Given the description of an element on the screen output the (x, y) to click on. 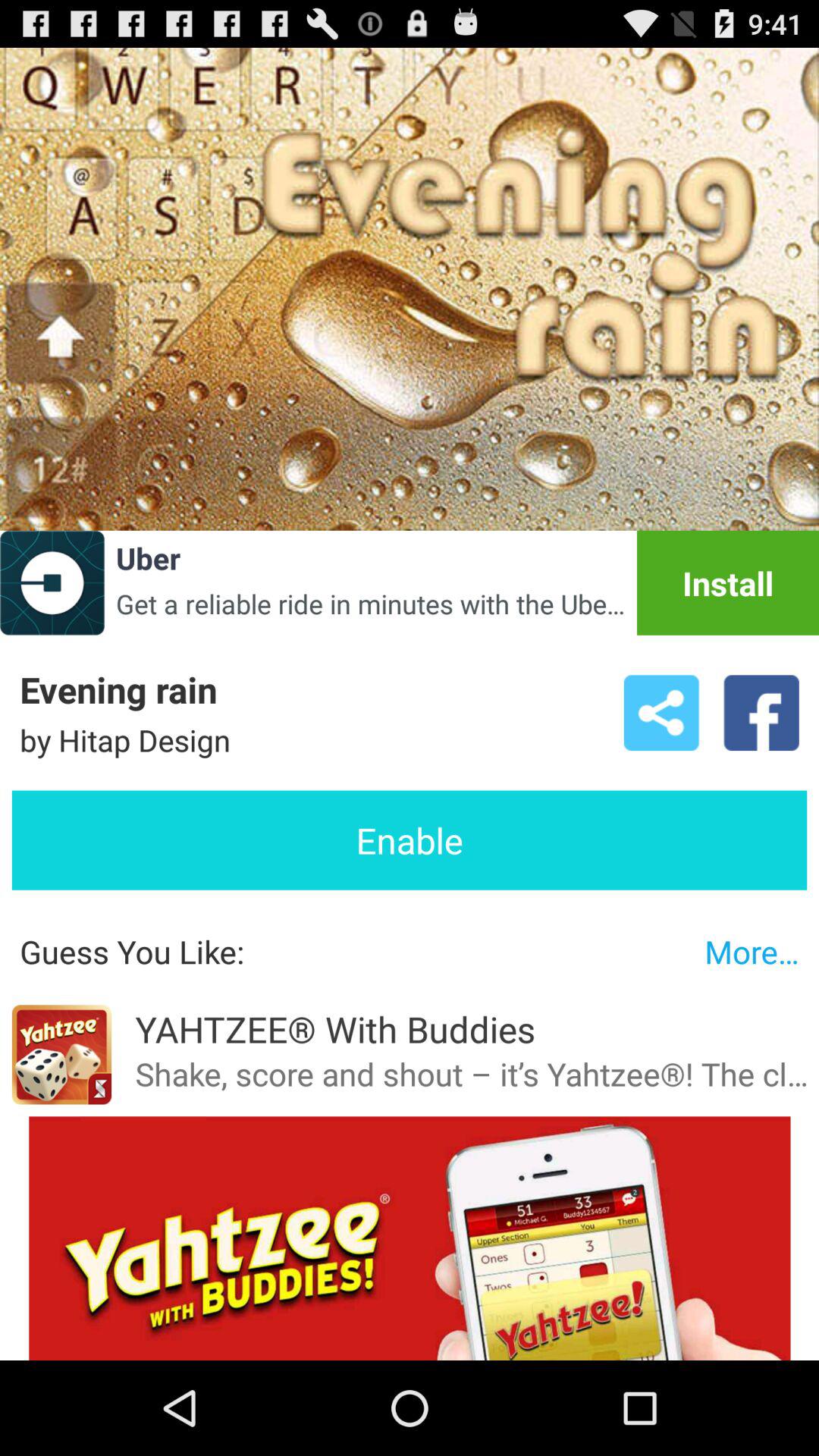
select the icon below install (661, 712)
